Given the description of an element on the screen output the (x, y) to click on. 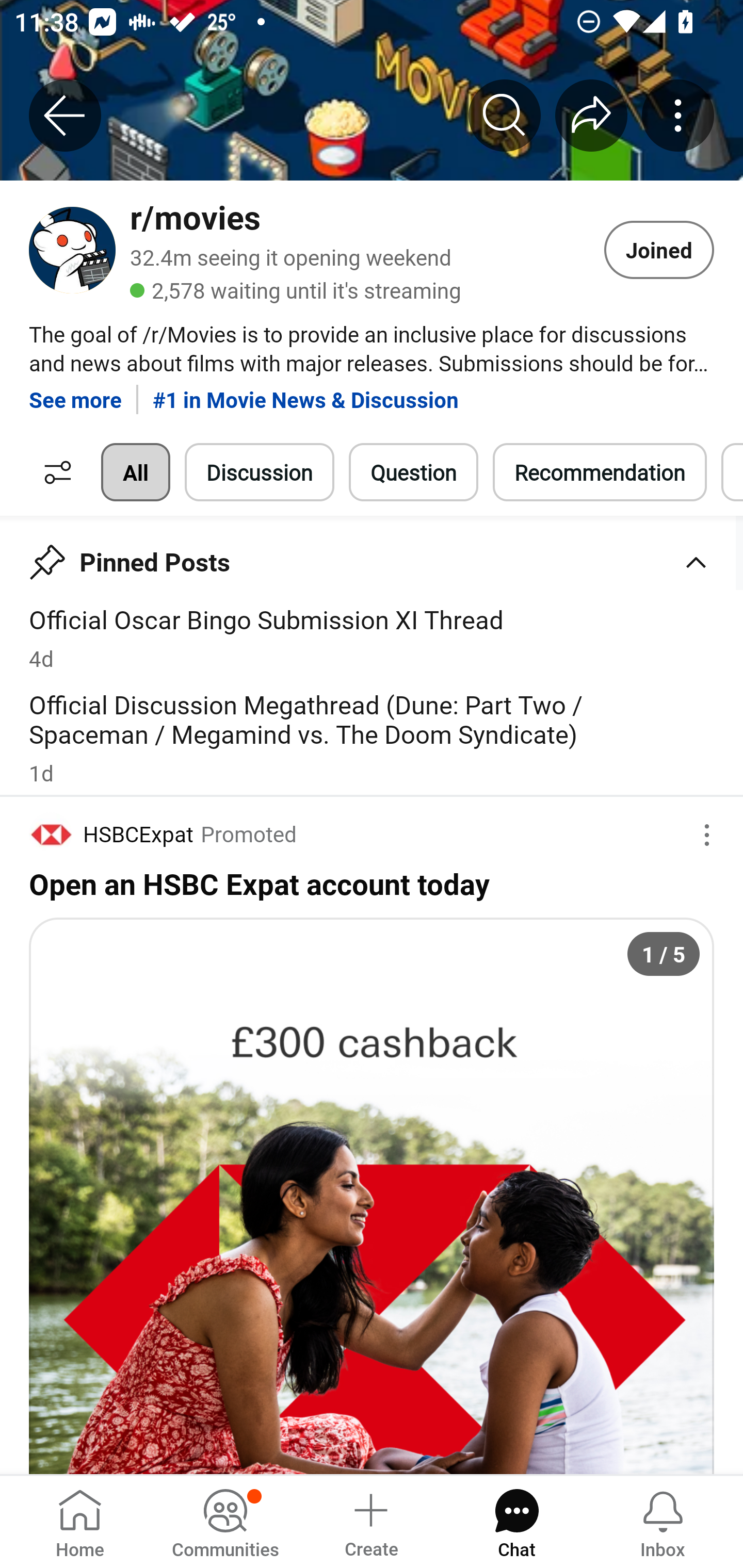
Back (64, 115)
Search r/﻿movies (504, 115)
Share r/﻿movies (591, 115)
More community actions (677, 115)
See more (74, 391)
#1 in Movie News & Discussion (305, 391)
Feed Options (53, 472)
All (135, 472)
Discussion (259, 472)
Question (413, 472)
Recommendation (599, 472)
Pin Pinned Posts Caret (371, 554)
Official Oscar Bingo Submission XI Thread 4d (371, 637)
Author HSBCExpat (110, 833)
Home (80, 1520)
Communities, has notifications Communities (225, 1520)
Create a post Create (370, 1520)
Chat (516, 1520)
Inbox (662, 1520)
